Given the description of an element on the screen output the (x, y) to click on. 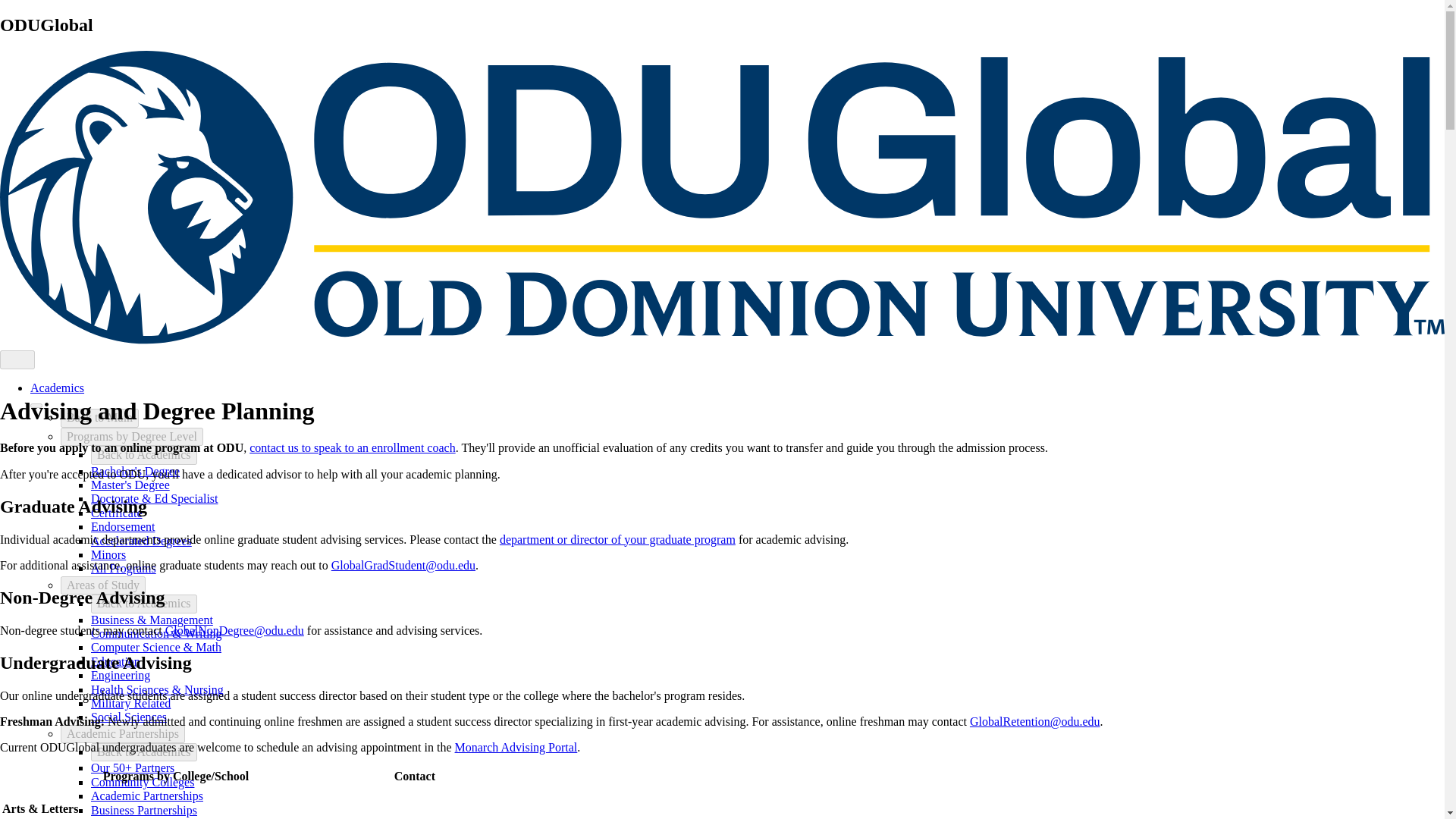
Engineering (119, 675)
Minors (107, 554)
Areas of Study (103, 585)
All Programs (122, 567)
Accelerated Degrees (141, 540)
Academic Partnerships (122, 733)
Back to Academics (143, 603)
Programs by Degree Level (132, 436)
Back to Academics (143, 454)
Education (114, 661)
